Given the description of an element on the screen output the (x, y) to click on. 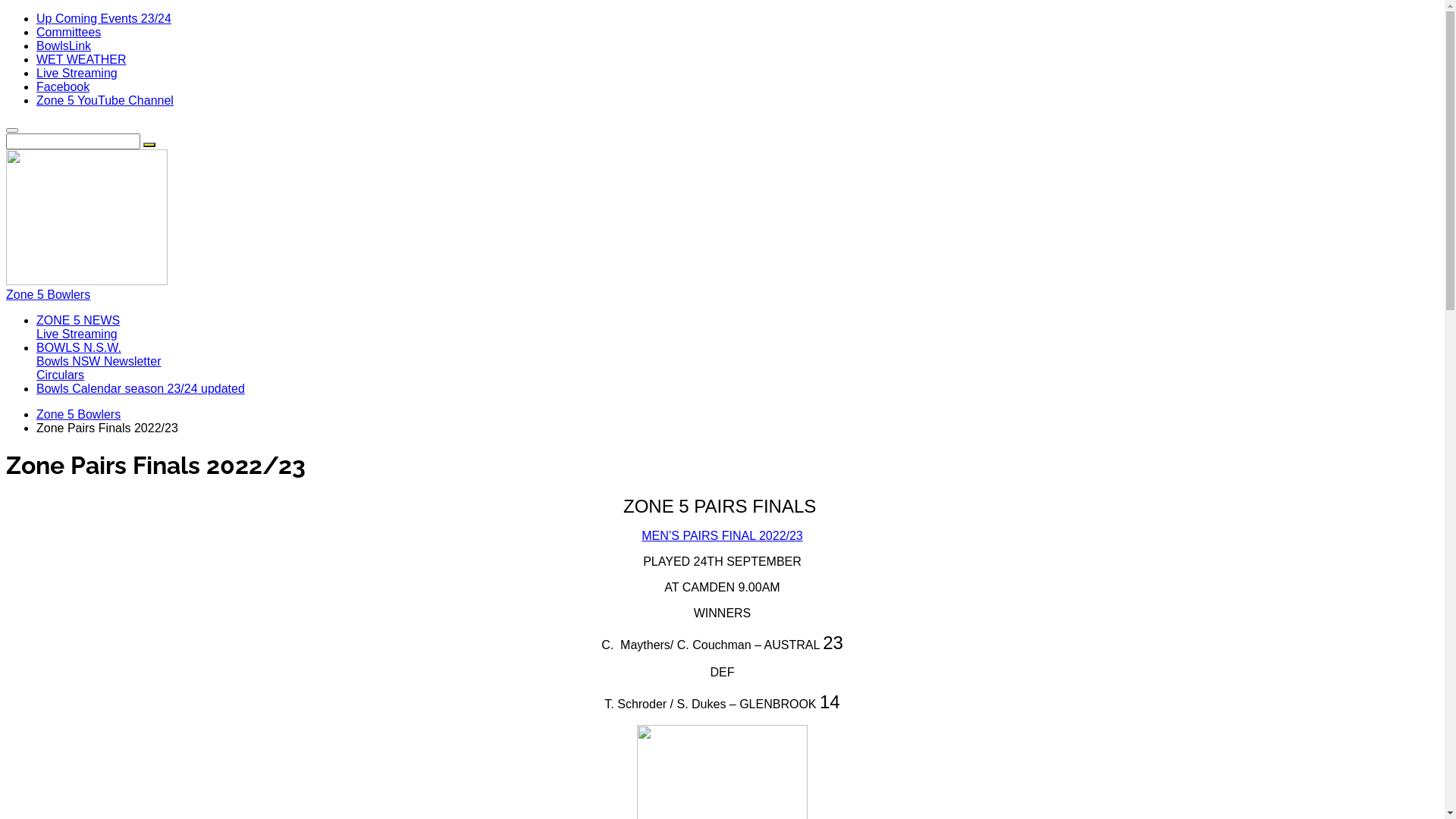
BOWLS N.S.W. Element type: text (78, 347)
BowlsLink Element type: text (63, 45)
Zone 5 Bowlers Element type: text (78, 413)
Zone 5 Bowlers Element type: text (722, 225)
Up Coming Events 23/24 Element type: text (103, 18)
Circulars Element type: text (60, 374)
Bowls NSW Newsletter Element type: text (98, 360)
Bowls Calendar season 23/24 updated Element type: text (140, 388)
WET WEATHER Element type: text (81, 59)
Facebook Element type: text (62, 86)
Live Streaming Element type: text (76, 72)
Live Streaming Element type: text (76, 333)
Zone 5 YouTube Channel Element type: text (104, 100)
Committees Element type: text (68, 31)
ZONE 5 NEWS Element type: text (77, 319)
